Given the description of an element on the screen output the (x, y) to click on. 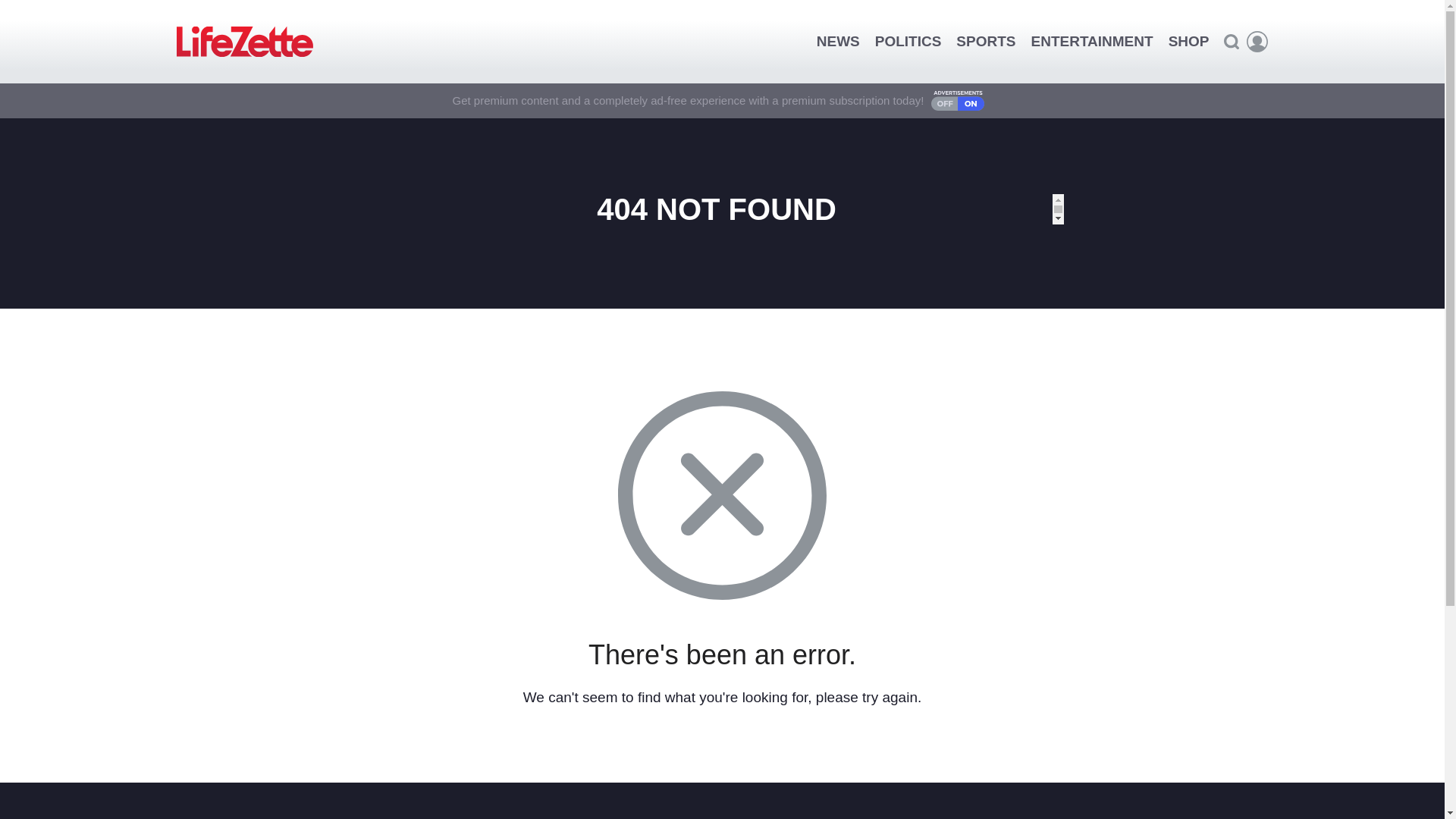
ENTERTAINMENT (1091, 41)
Account (1257, 41)
POLITICS (908, 41)
SPORTS (986, 41)
Search (1230, 41)
NEWS (838, 41)
SHOP (1188, 41)
